Given the description of an element on the screen output the (x, y) to click on. 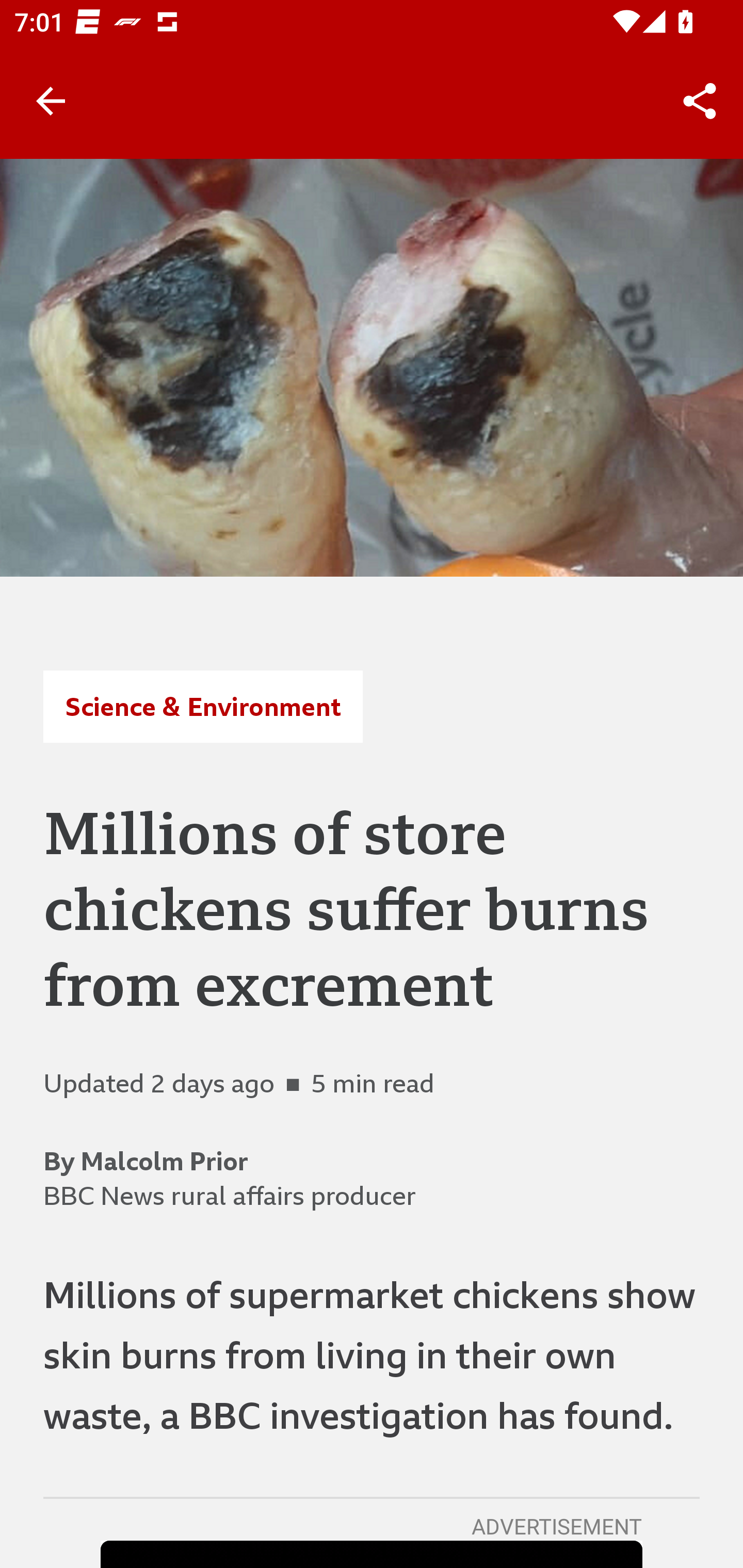
Back (50, 101)
Share (699, 101)
Hock burn (371, 367)
Science & Environment (202, 706)
